Given the description of an element on the screen output the (x, y) to click on. 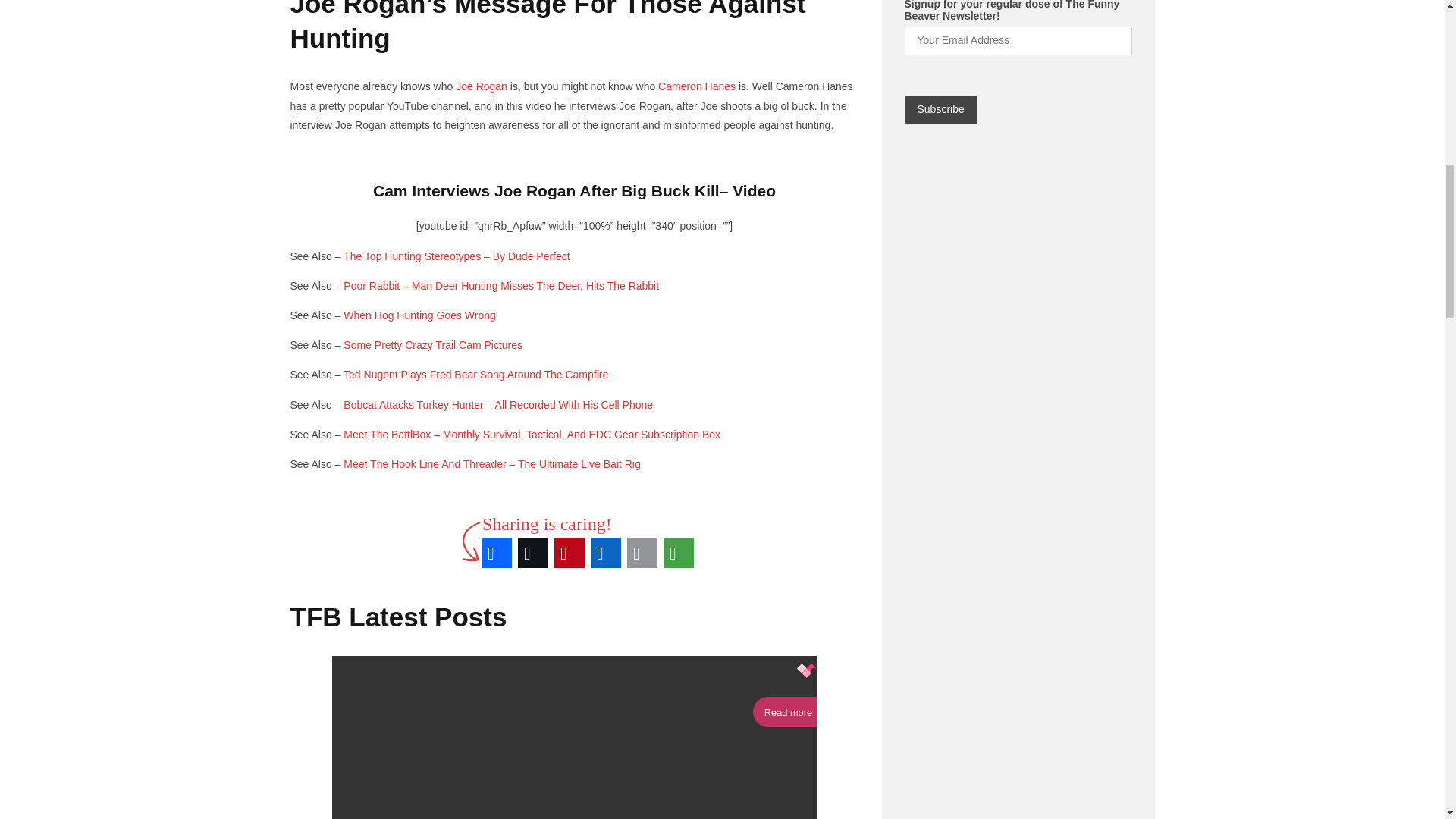
LinkedIn (606, 552)
Cam interviews Joe Rogan after big buck kill (545, 190)
Pinterest (569, 552)
Facebook (497, 552)
Subscribe (940, 109)
Ruger 10-22 Gattling Crank Gun Kit Test (724, 190)
NOVESKE: OAF Nation x Noveske Collaboration Rifle (730, 190)
